Given the description of an element on the screen output the (x, y) to click on. 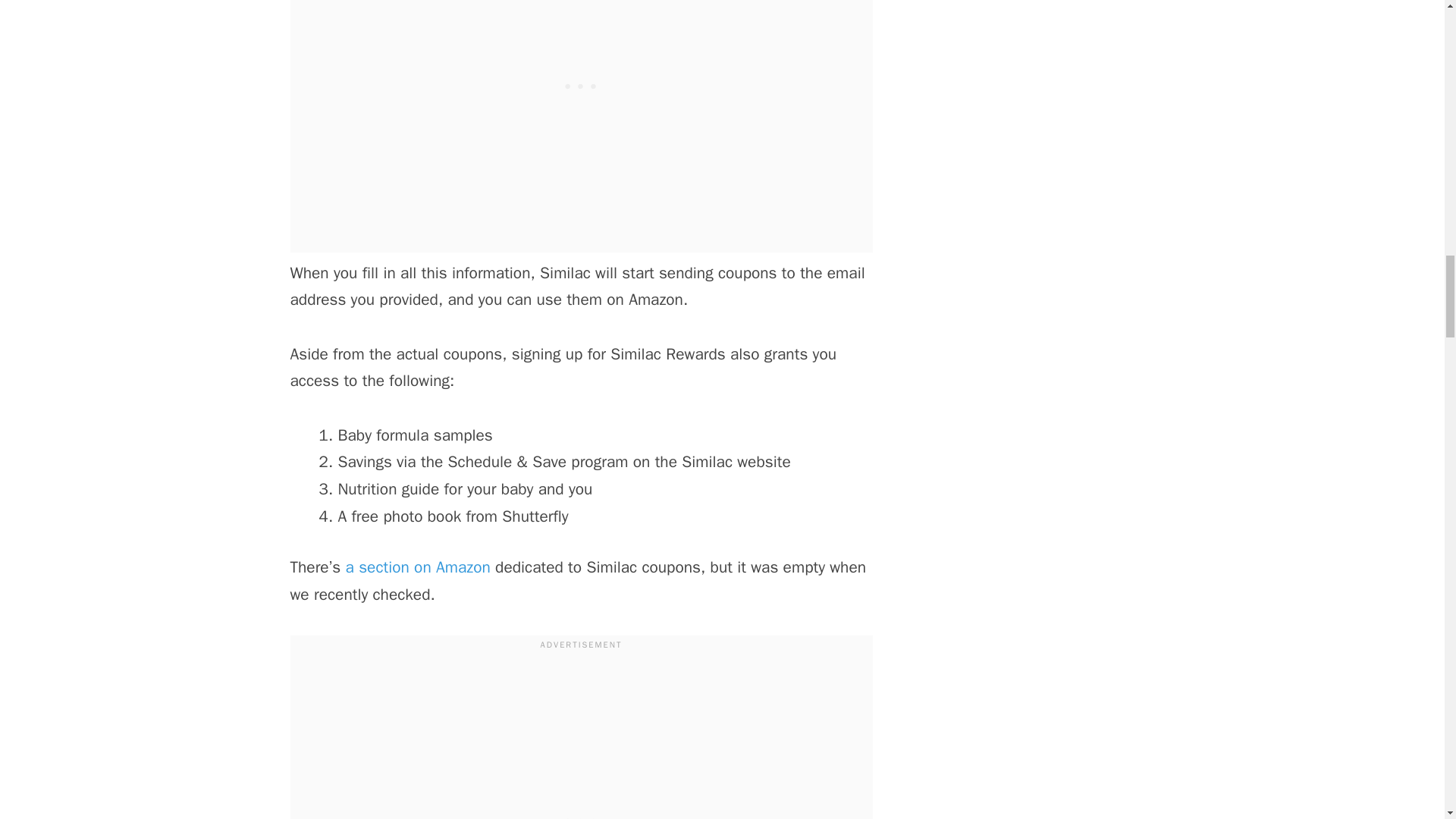
a section on Amazon (418, 567)
